Given the description of an element on the screen output the (x, y) to click on. 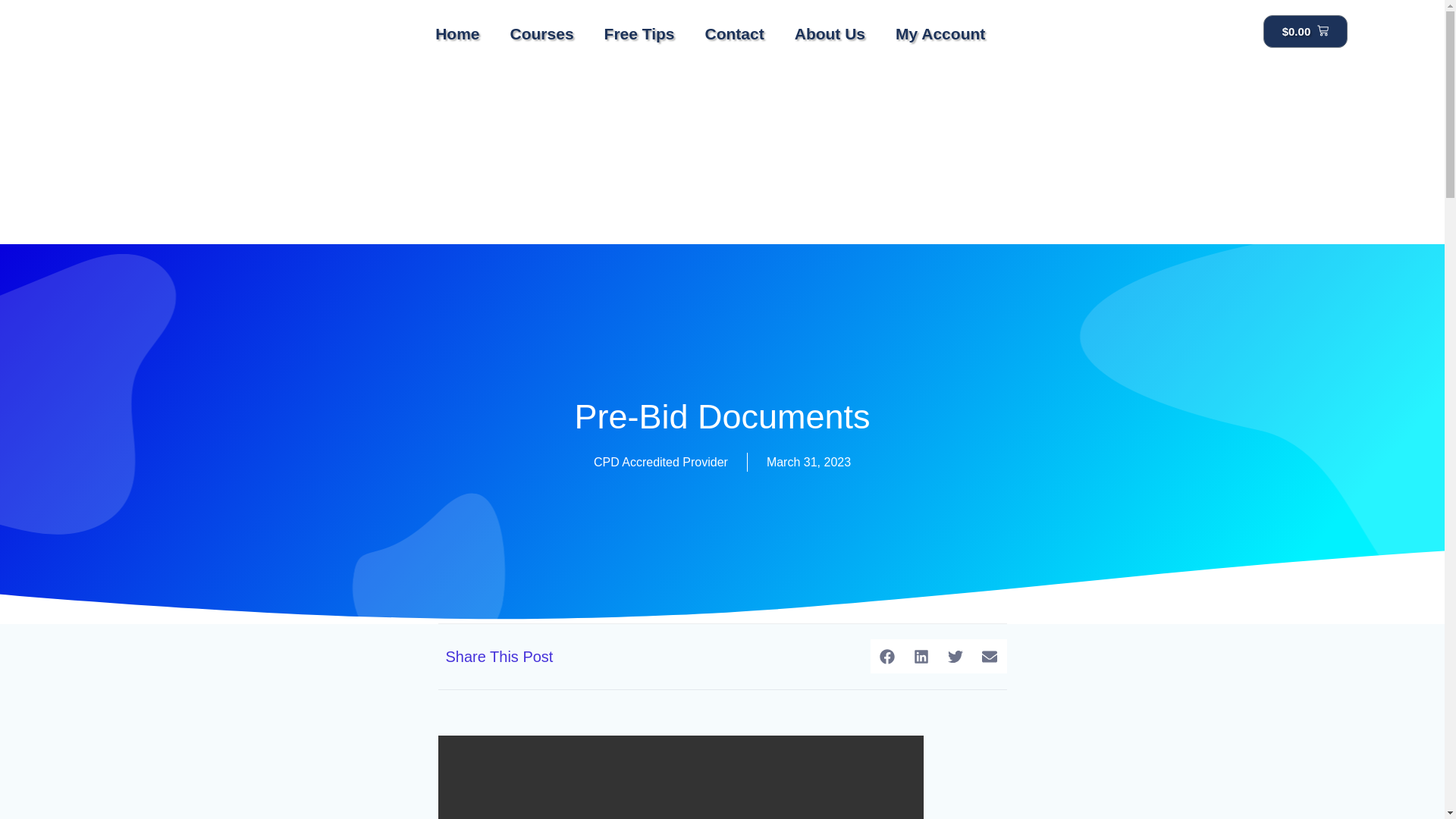
Contact (734, 33)
My Account (940, 33)
About Us (829, 33)
Courses (542, 33)
Home (457, 33)
Free Tips (639, 33)
